Given the description of an element on the screen output the (x, y) to click on. 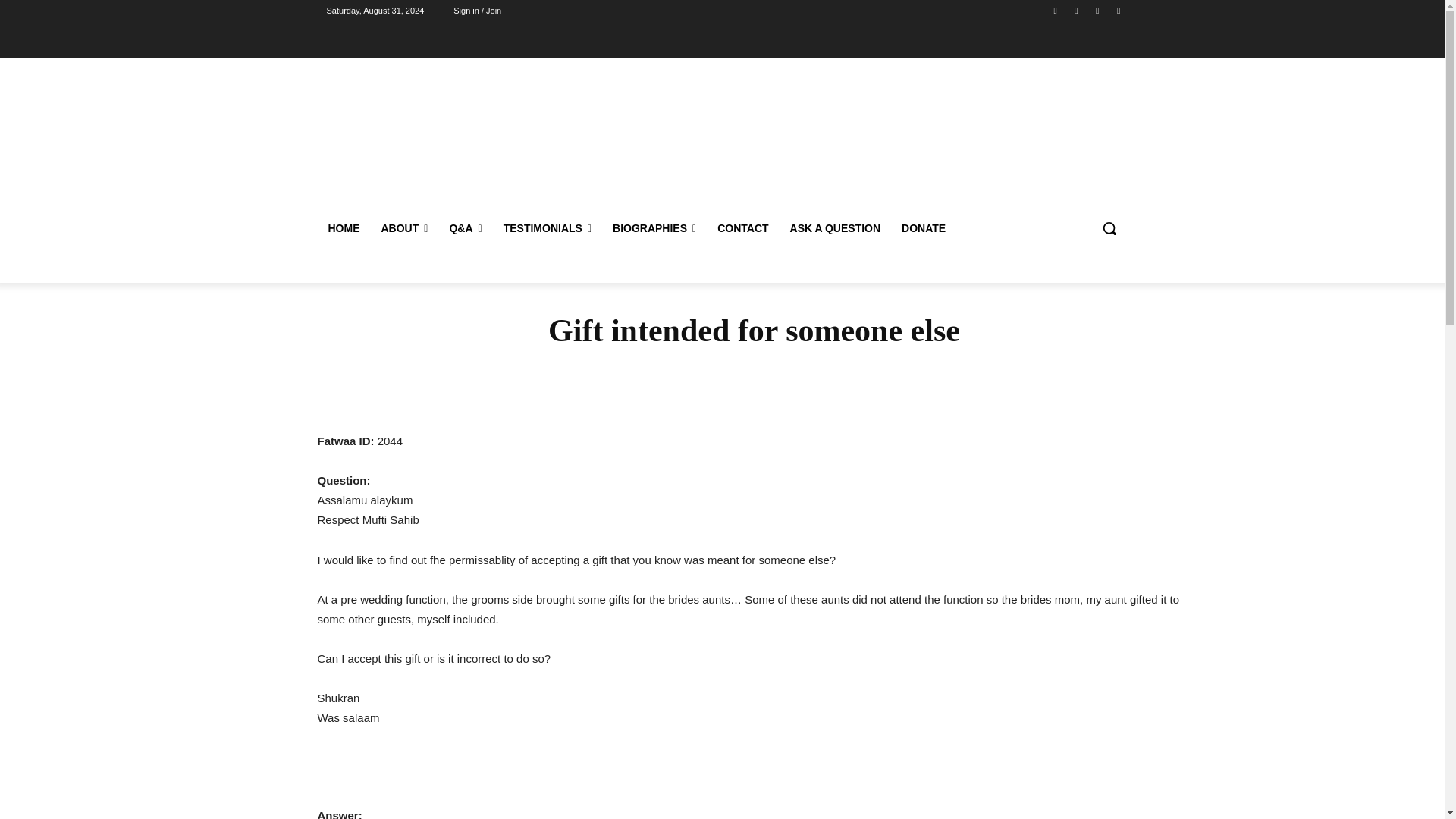
Twitter (1117, 9)
Instagram (1075, 9)
Mail (1097, 9)
Facebook (1055, 9)
